Given the description of an element on the screen output the (x, y) to click on. 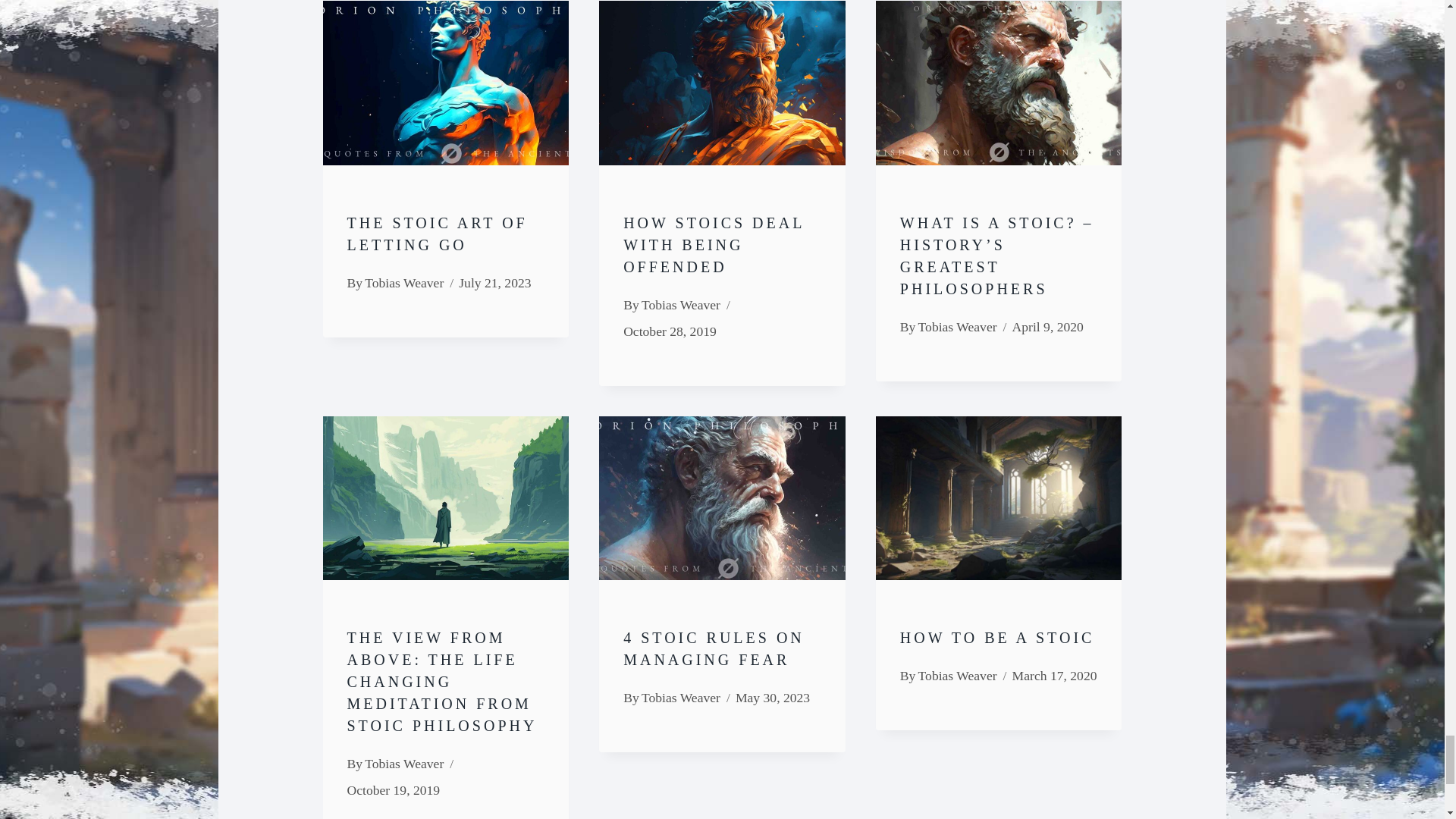
What is a Stoic? - History's Greatest Philosophers 8 (999, 82)
Tobias Weaver (681, 697)
4 Stoic Rules on Managing Fear 11 (721, 497)
The Stoic Art of Letting Go 4 (446, 82)
Tobias Weaver (404, 281)
How To Be A Stoic 15 (999, 497)
Tobias Weaver (681, 304)
4 STOIC RULES ON MANAGING FEAR (714, 648)
How Stoics Deal With Being Offended 7 (721, 82)
